Given the description of an element on the screen output the (x, y) to click on. 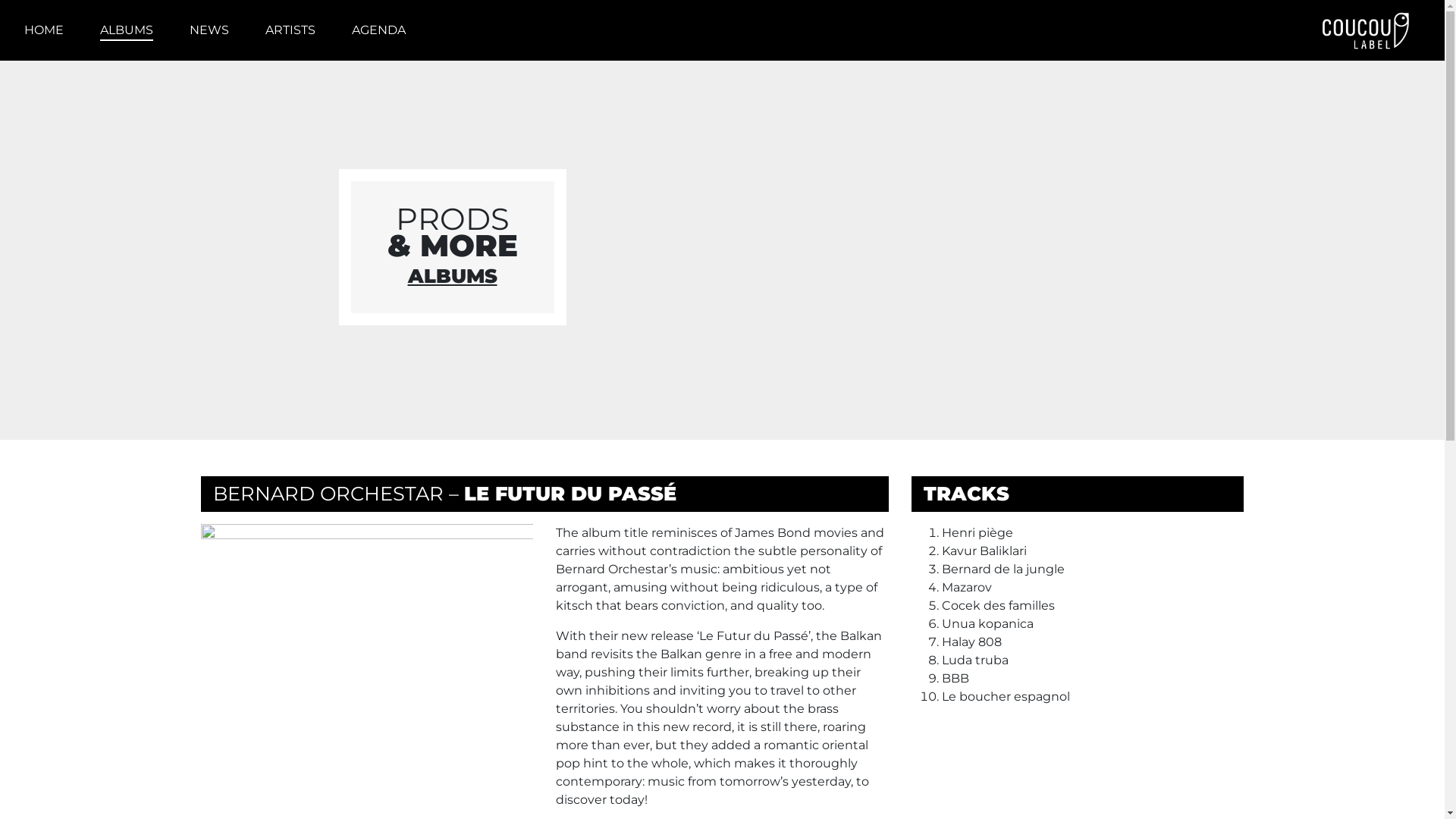
HOME Element type: text (43, 29)
ALBUMS Element type: text (126, 30)
ARTISTS Element type: text (290, 29)
ALBUMS Element type: text (452, 275)
NEWS Element type: text (209, 29)
AGENDA Element type: text (378, 29)
